Given the description of an element on the screen output the (x, y) to click on. 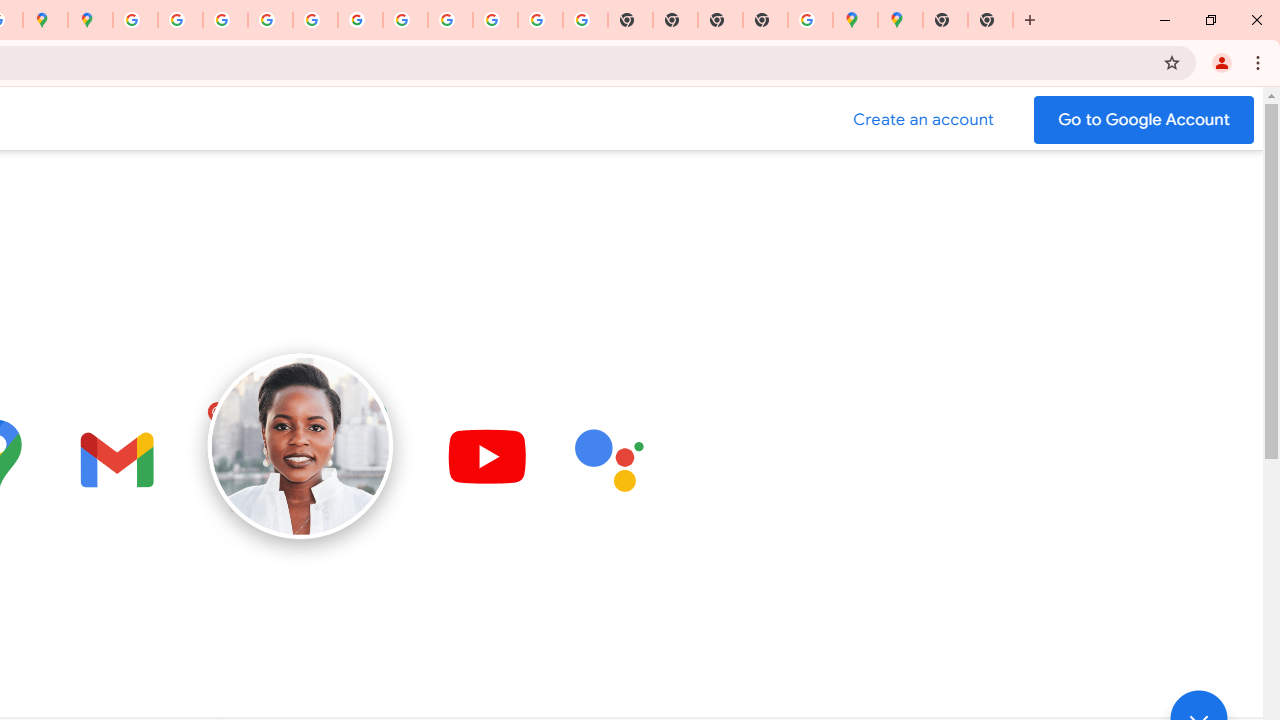
Use Google Maps in Space - Google Maps Help (810, 20)
New Tab (989, 20)
Privacy Help Center - Policies Help (270, 20)
Browse Chrome as a guest - Computer - Google Chrome Help (450, 20)
Go to your Google Account (1144, 119)
Privacy Help Center - Policies Help (225, 20)
